Given the description of an element on the screen output the (x, y) to click on. 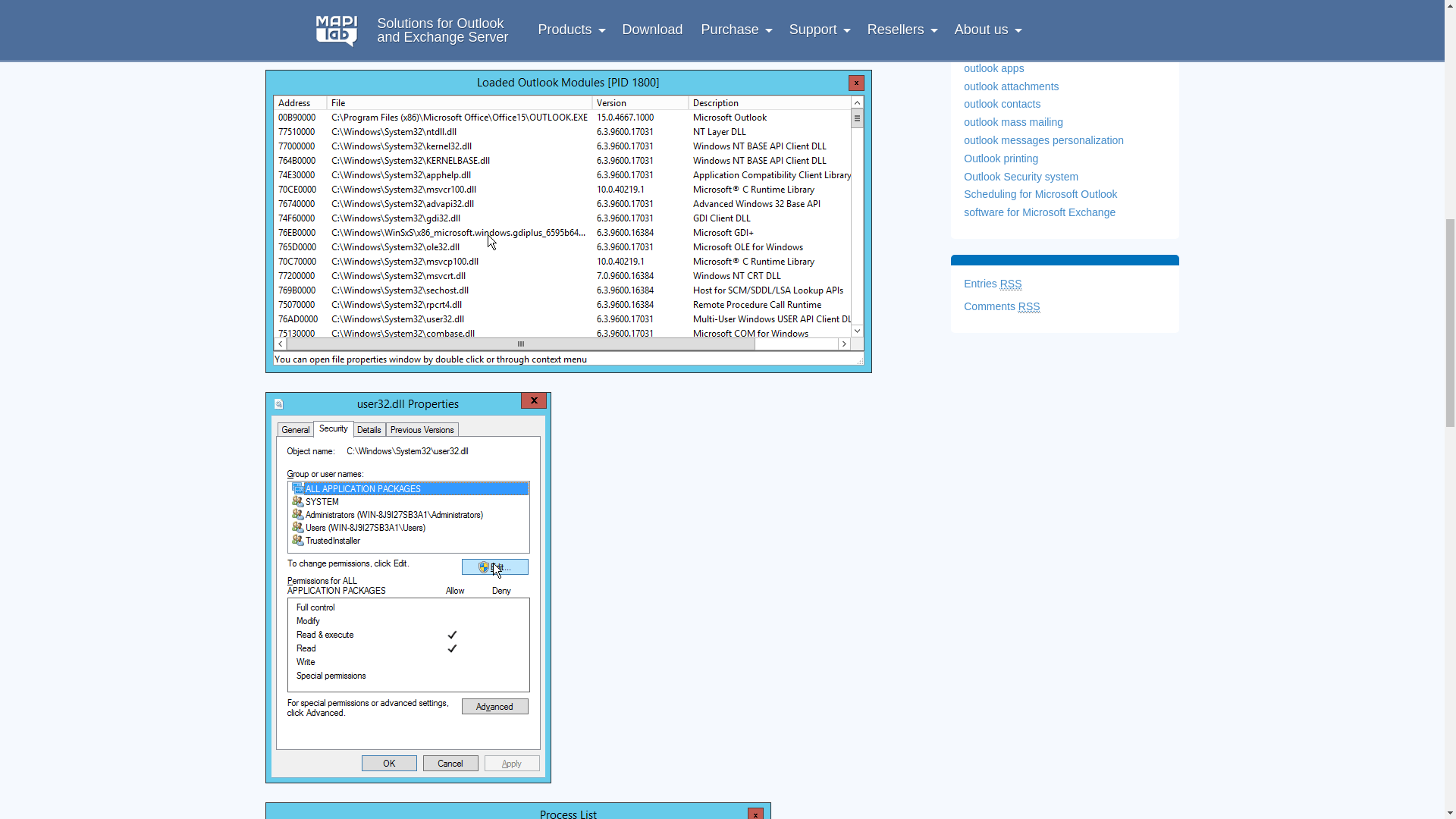
Really Simple Syndication (1011, 283)
Syndicate this site using RSS 2.0 (992, 283)
Really Simple Syndication (1029, 306)
The latest comments to all posts in RSS (1001, 306)
